Given the description of an element on the screen output the (x, y) to click on. 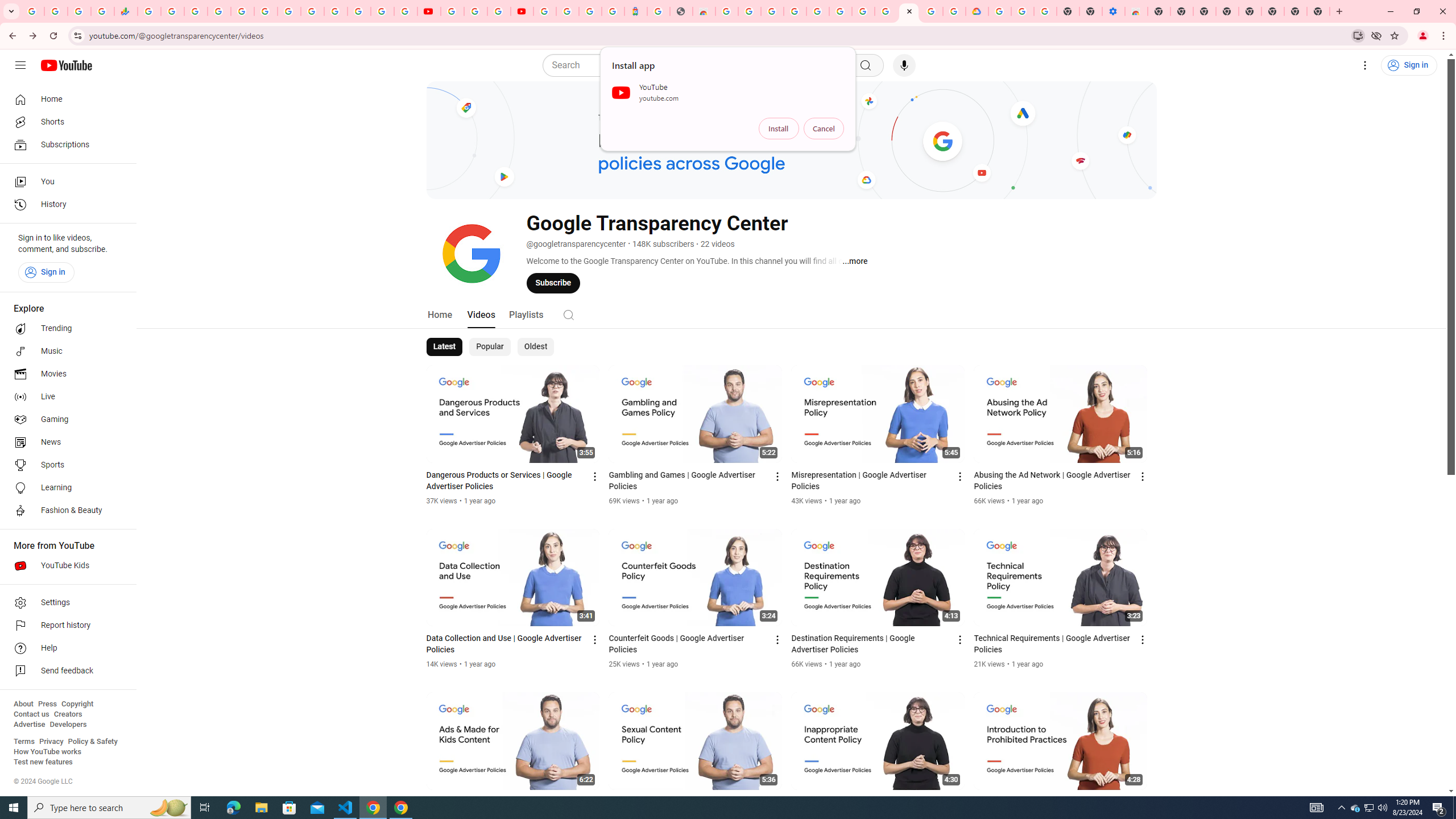
Android TV Policies and Guidelines - Transparency Center (288, 11)
Creators (67, 714)
News (64, 441)
Music (64, 350)
Atour Hotel - Google hotels (635, 11)
Action menu (1142, 802)
Gaming (64, 419)
